Given the description of an element on the screen output the (x, y) to click on. 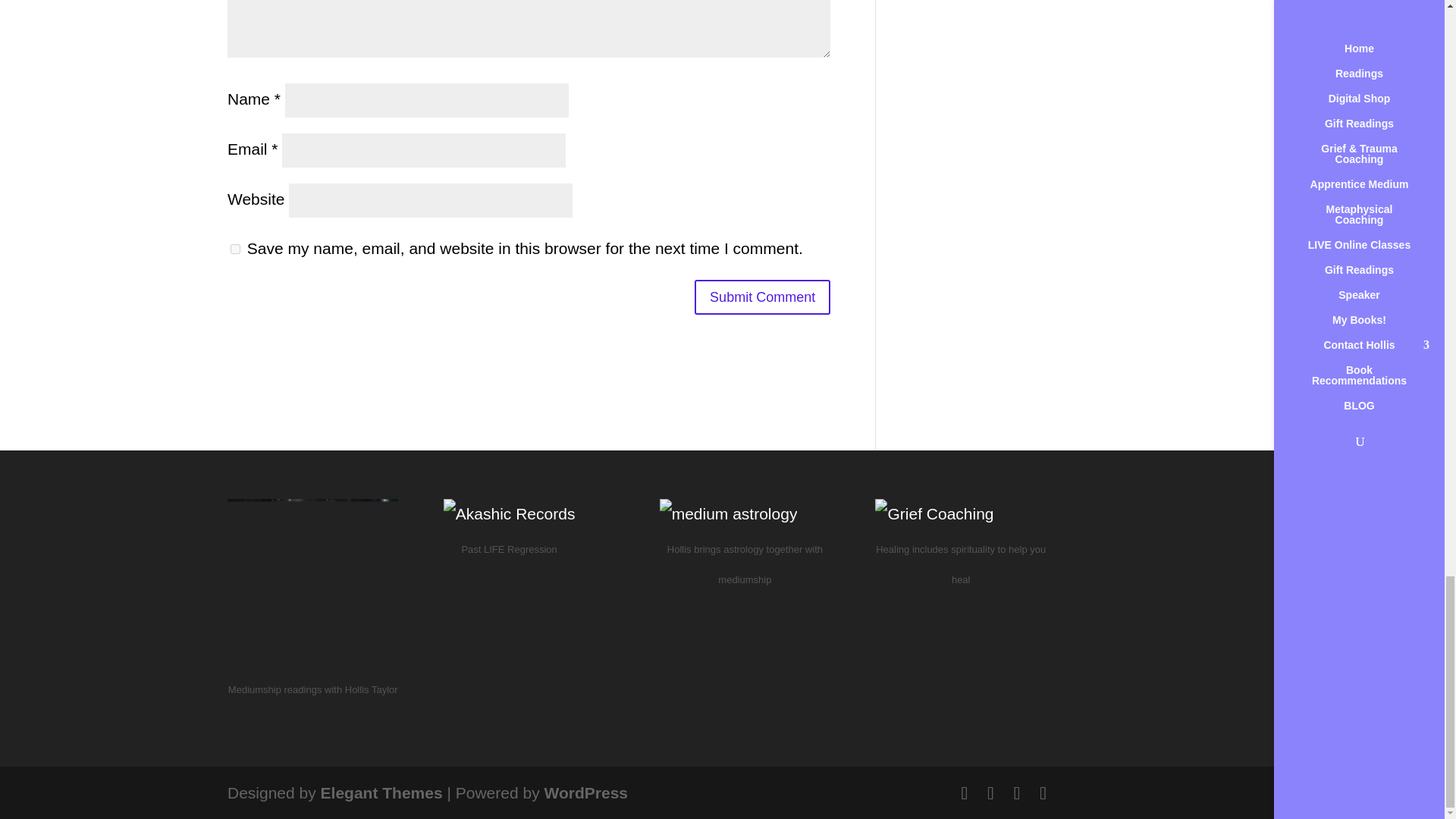
yes (235, 248)
Submit Comment (761, 296)
Premium WordPress Themes (381, 792)
Submit Comment (761, 296)
